Given the description of an element on the screen output the (x, y) to click on. 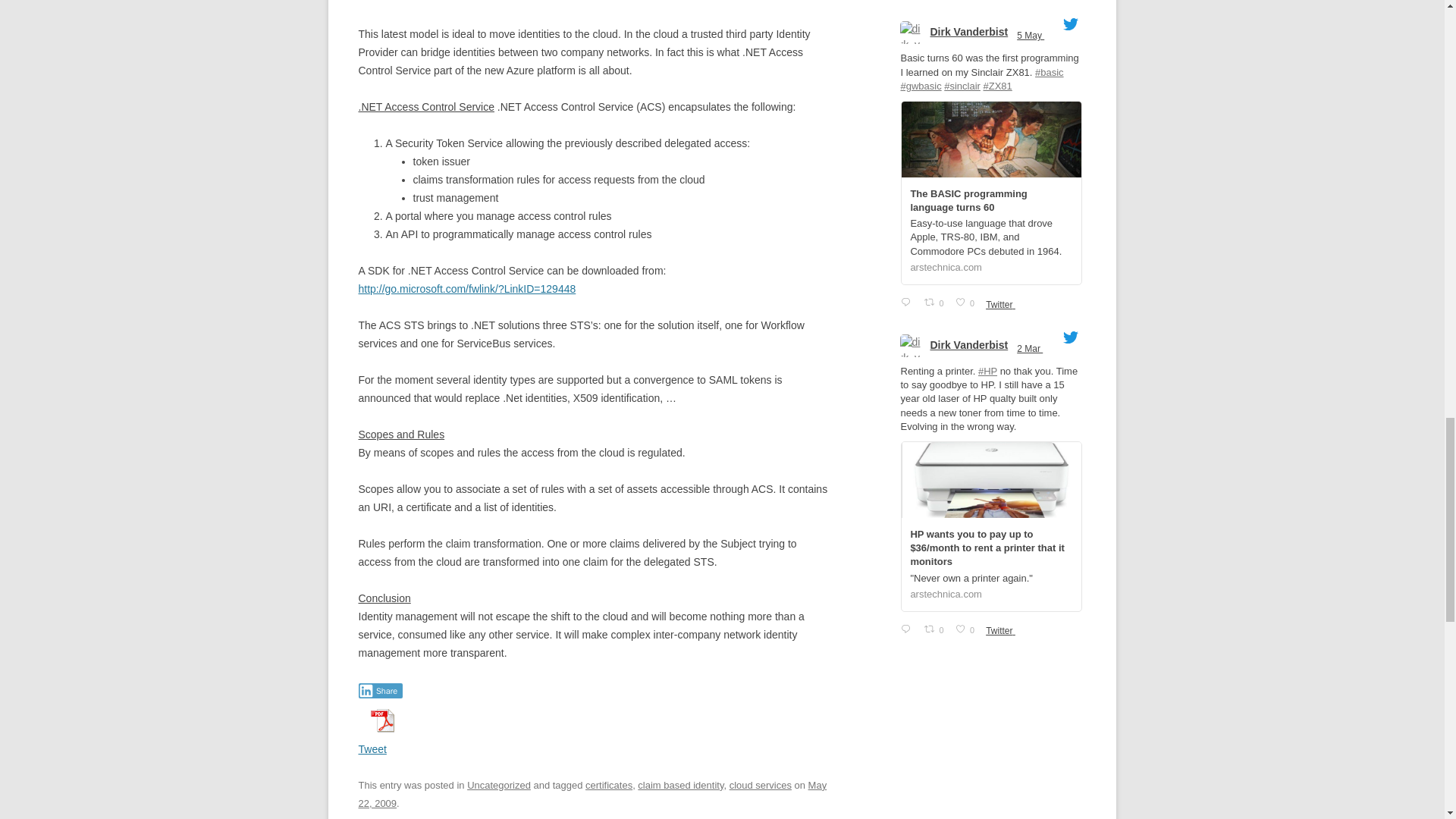
May 22, 2009 (592, 794)
View PDF (381, 720)
cloud services (760, 785)
claim based identity (680, 785)
Tweet (371, 748)
certificates (608, 785)
Share (380, 690)
10:37 am (592, 794)
Uncategorized (499, 785)
